Given the description of an element on the screen output the (x, y) to click on. 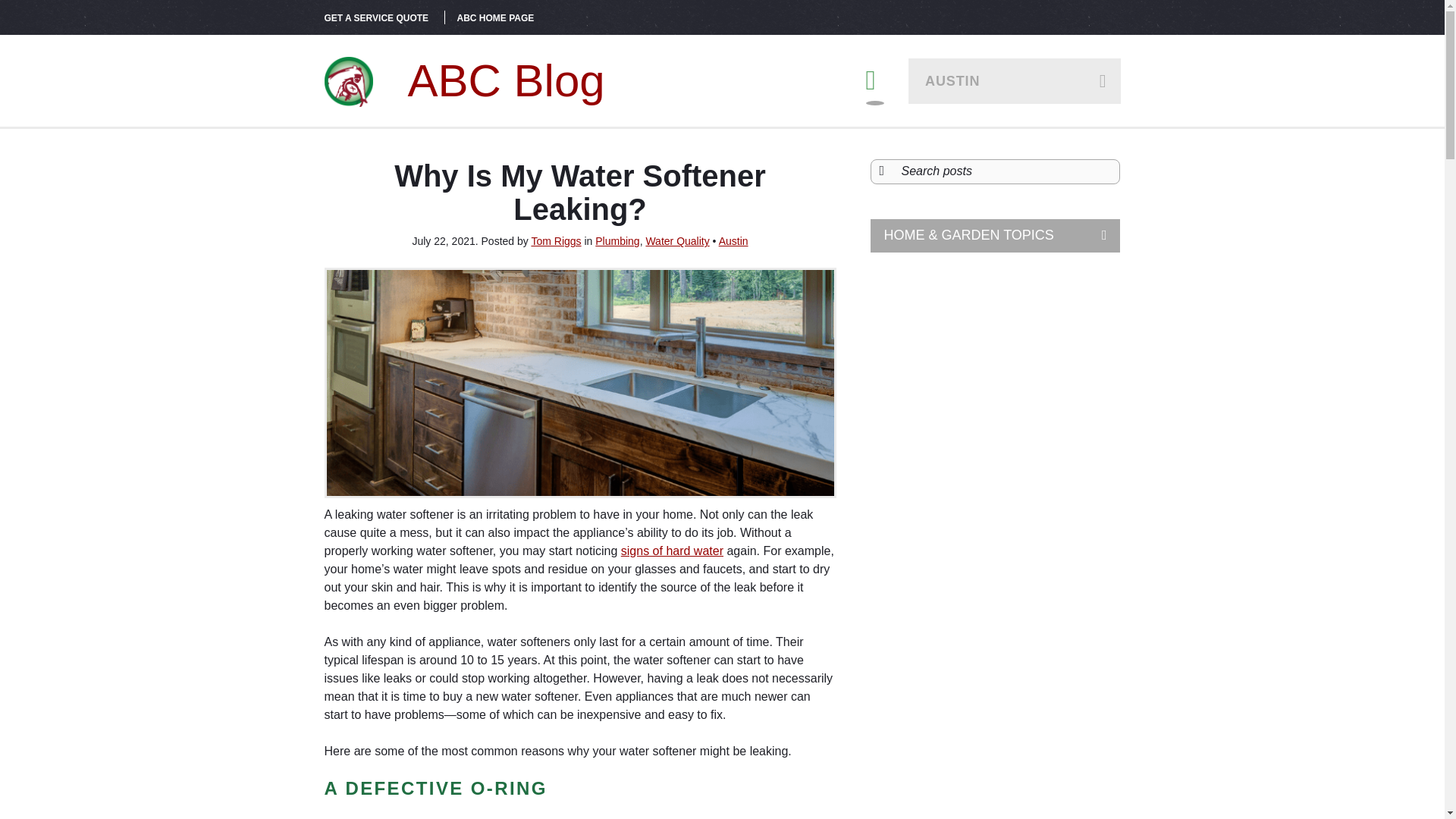
Water Quality (677, 241)
Tom Riggs (555, 241)
ABC Blog (464, 80)
AUSTIN (1014, 81)
ABC HOME PAGE (495, 18)
Plumbing (617, 241)
GET A SERVICE QUOTE (376, 18)
Austin (733, 241)
signs of hard water (672, 550)
